Given the description of an element on the screen output the (x, y) to click on. 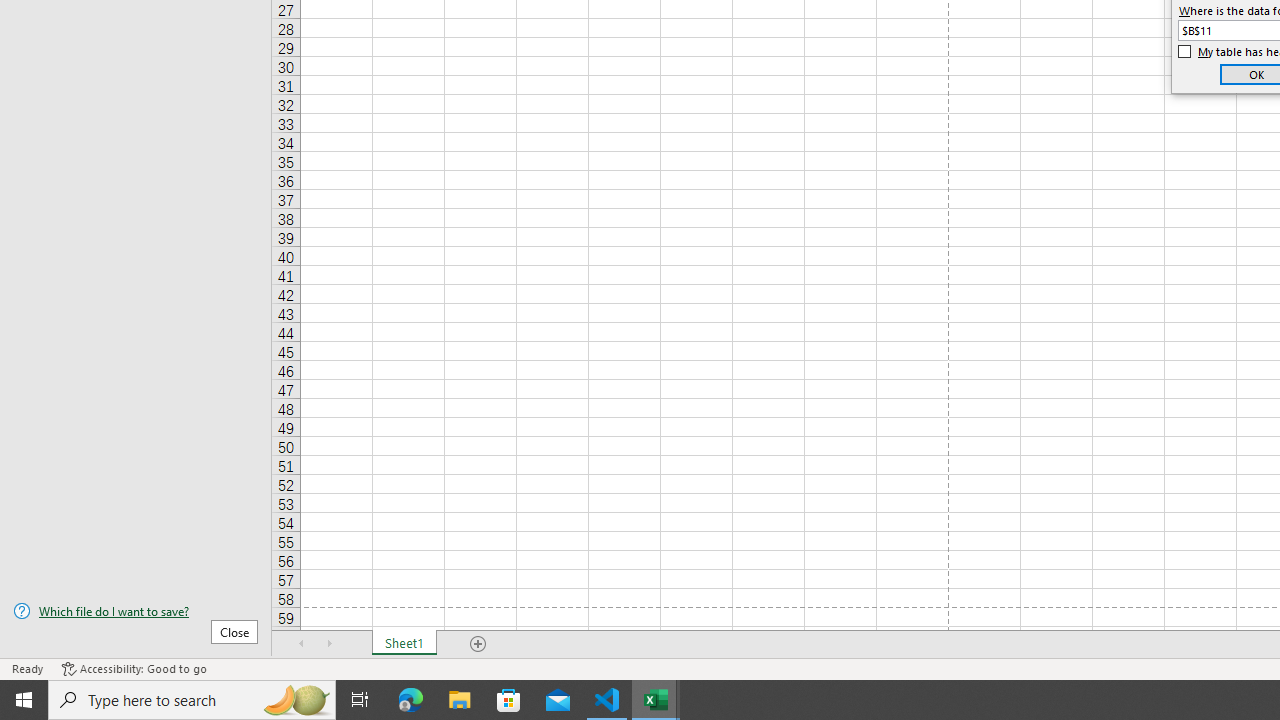
Accessibility Checker Accessibility: Good to go (134, 668)
Scroll Right (330, 644)
Scroll Left (302, 644)
Close (234, 631)
Sheet1 (404, 644)
Which file do I want to save? (136, 611)
Add Sheet (478, 644)
